Given the description of an element on the screen output the (x, y) to click on. 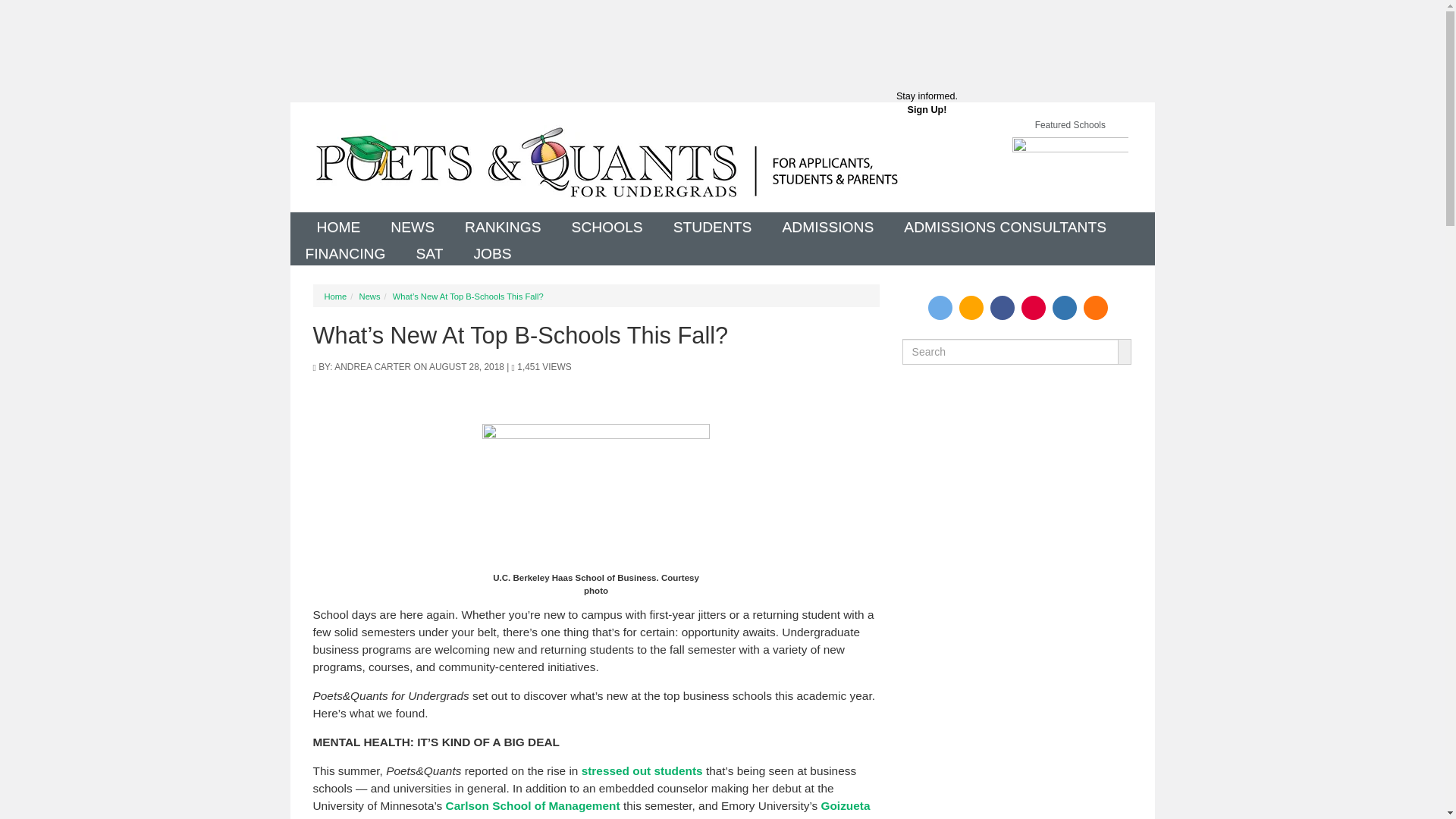
JOBS (491, 252)
Home (606, 162)
ADMISSIONS (827, 225)
SAT (926, 107)
ADMISSIONS CONSULTANTS (429, 252)
Financing (1004, 225)
NEWS (344, 252)
HOME (412, 225)
SAT (338, 225)
